Given the description of an element on the screen output the (x, y) to click on. 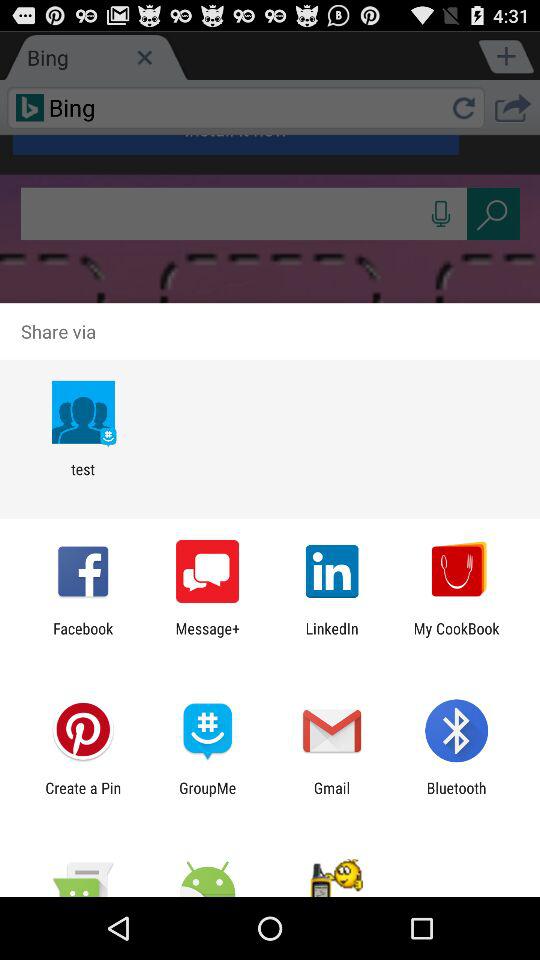
choose app next to message+ item (331, 637)
